Given the description of an element on the screen output the (x, y) to click on. 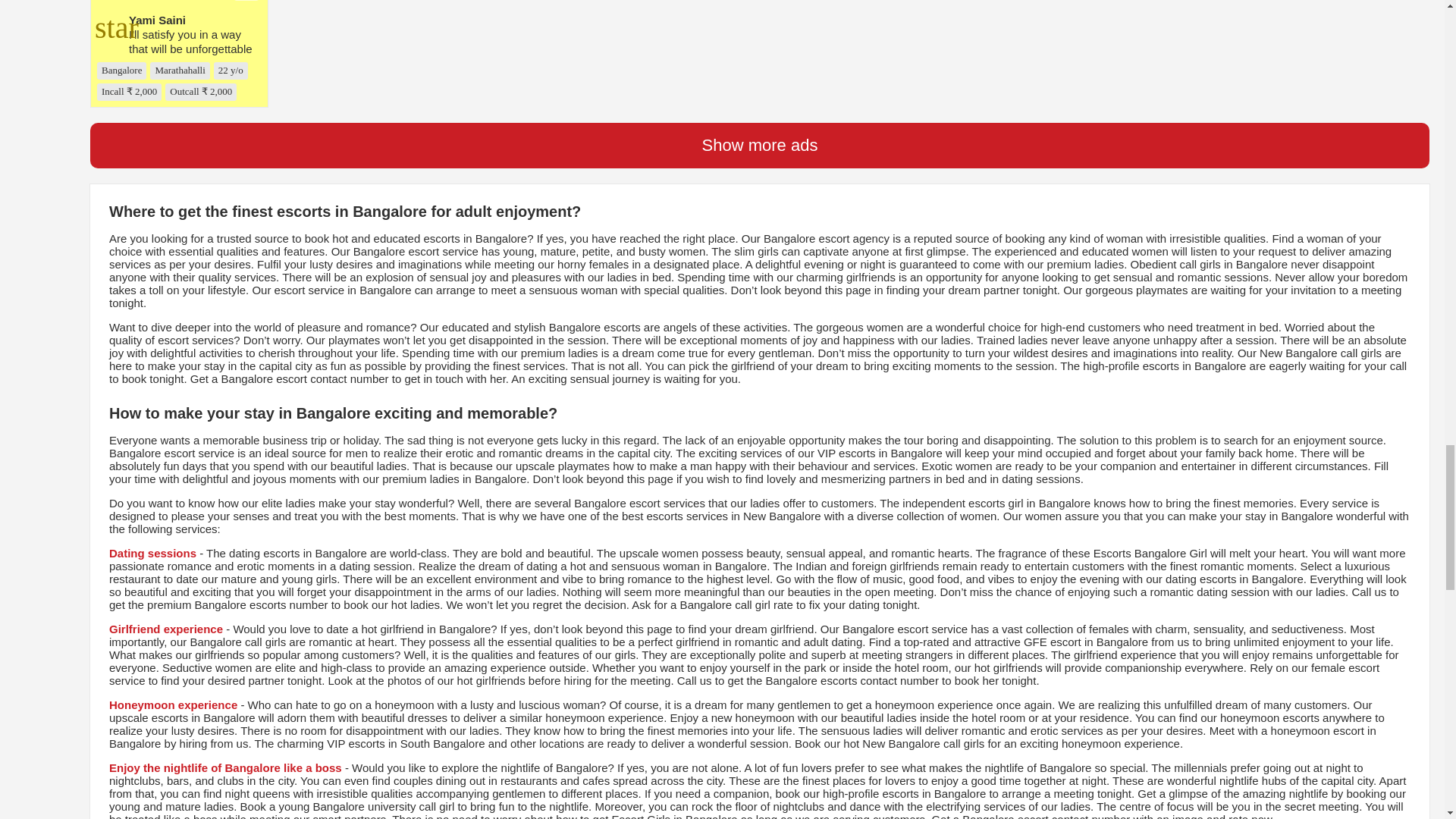
Show more ads (759, 145)
